Given the description of an element on the screen output the (x, y) to click on. 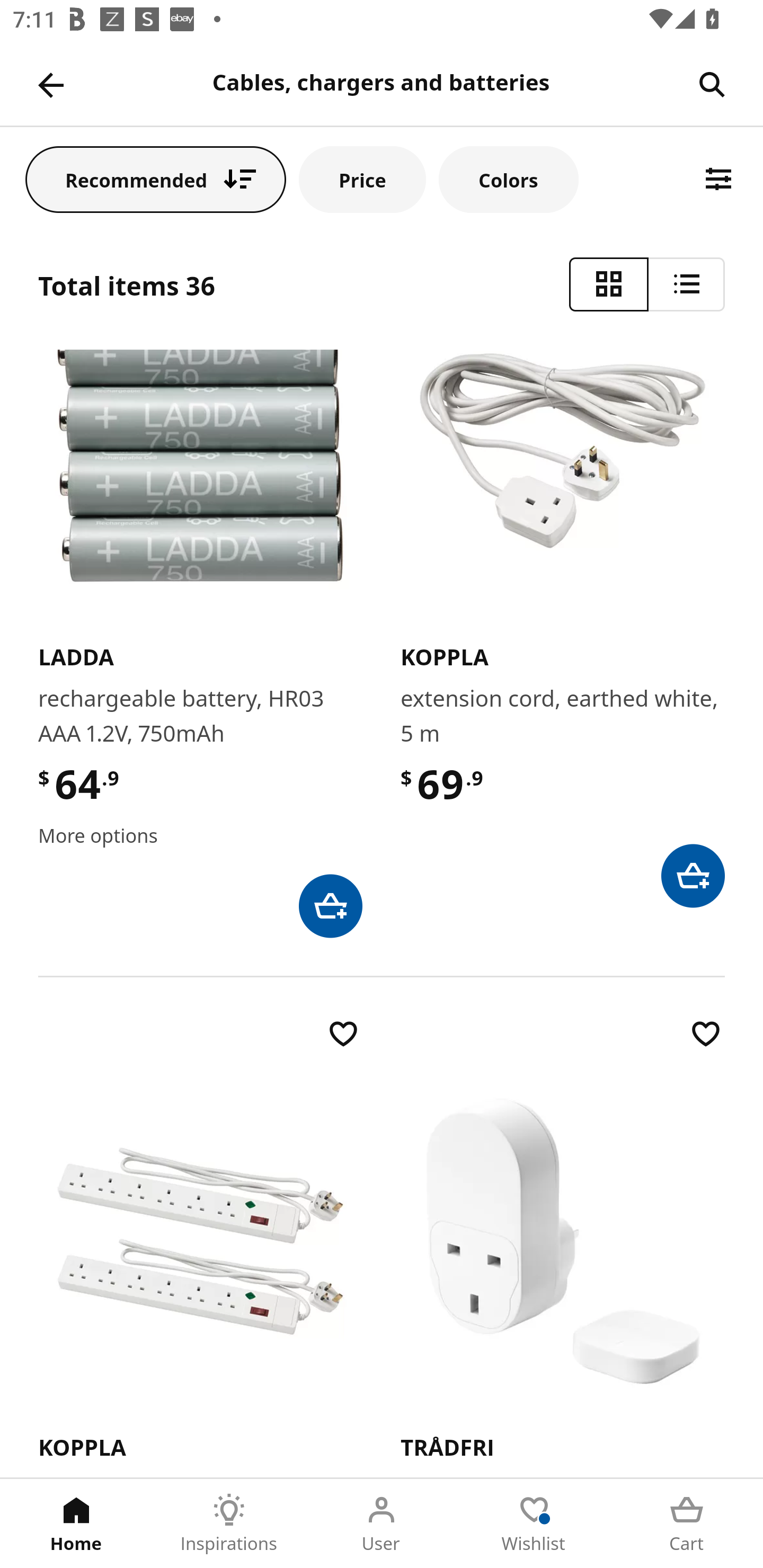
Recommended (155, 179)
Price (362, 179)
Colors (508, 179)
​T​R​Å​D​F​R​I​
control outlet kit, smart
$
149
.9 (562, 1246)
Home
Tab 1 of 5 (76, 1522)
Inspirations
Tab 2 of 5 (228, 1522)
User
Tab 3 of 5 (381, 1522)
Wishlist
Tab 4 of 5 (533, 1522)
Cart
Tab 5 of 5 (686, 1522)
